Given the description of an element on the screen output the (x, y) to click on. 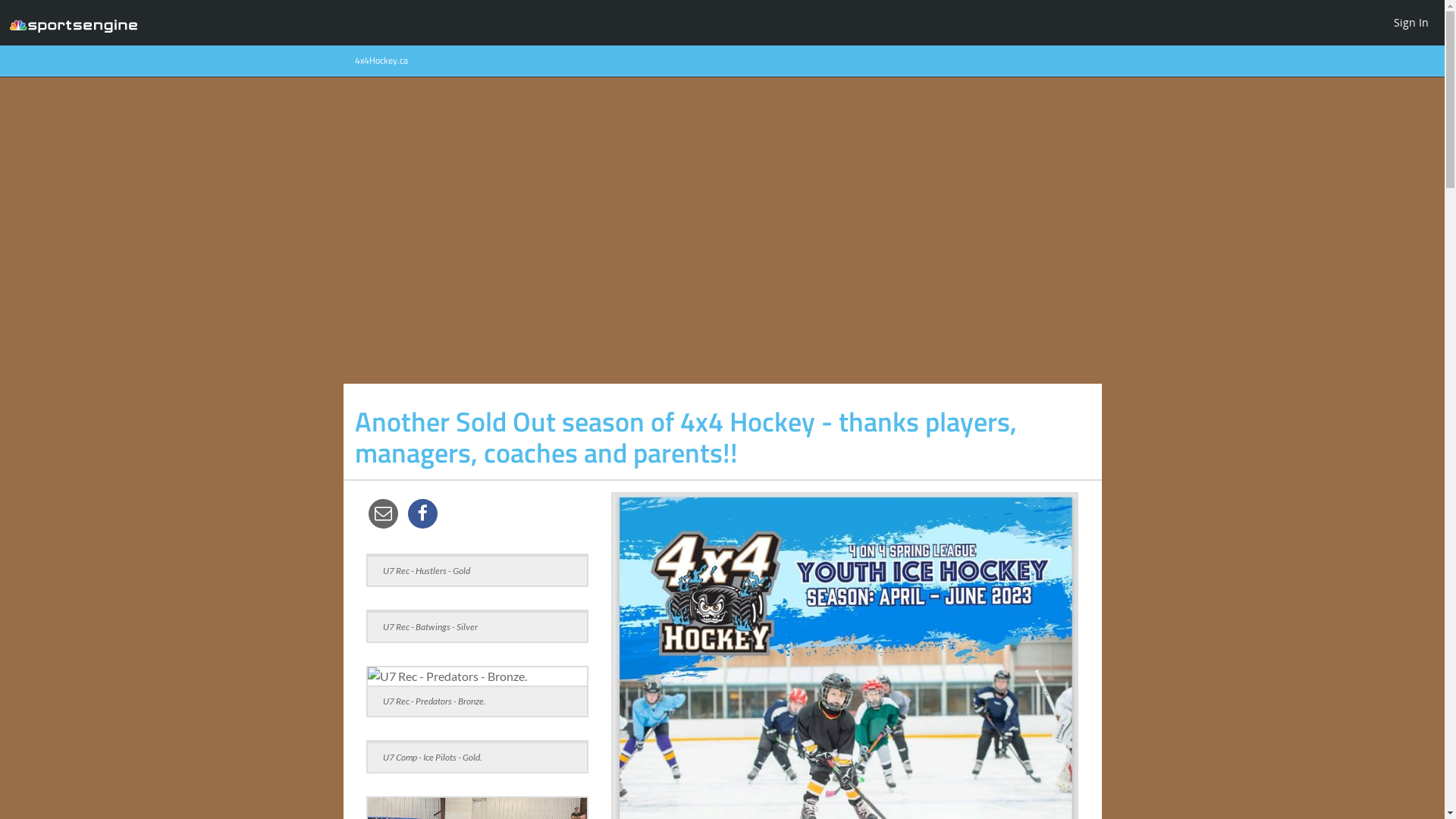
SportsEngine Element type: text (73, 22)
Sign In Element type: text (1410, 22)
E-Mail Element type: hover (382, 512)
Facebook Element type: hover (421, 512)
